Given the description of an element on the screen output the (x, y) to click on. 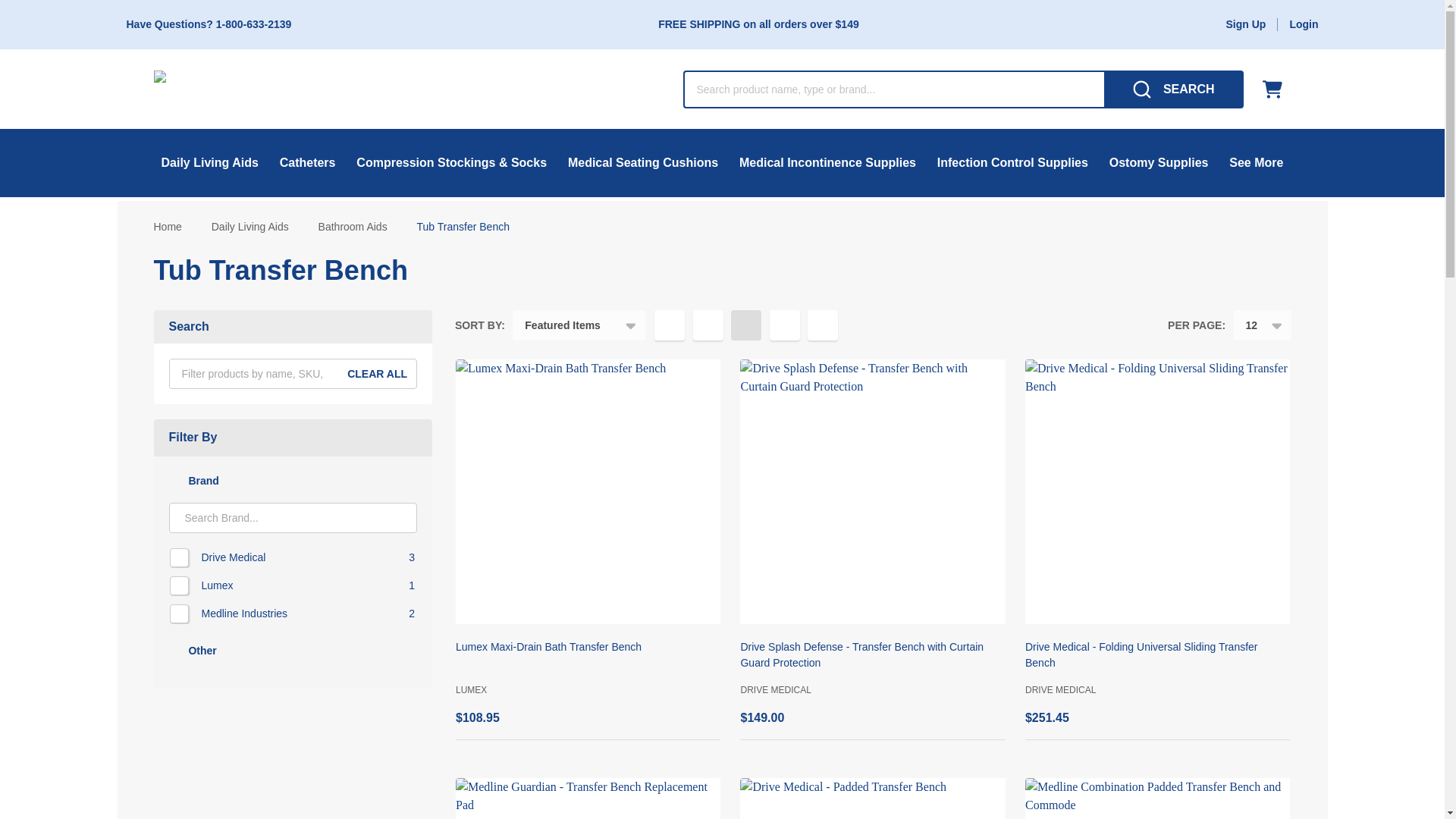
Cart (1276, 89)
Login (1302, 24)
Login (1302, 24)
SEARCH (1173, 89)
1-800-633-2139 (253, 24)
